Given the description of an element on the screen output the (x, y) to click on. 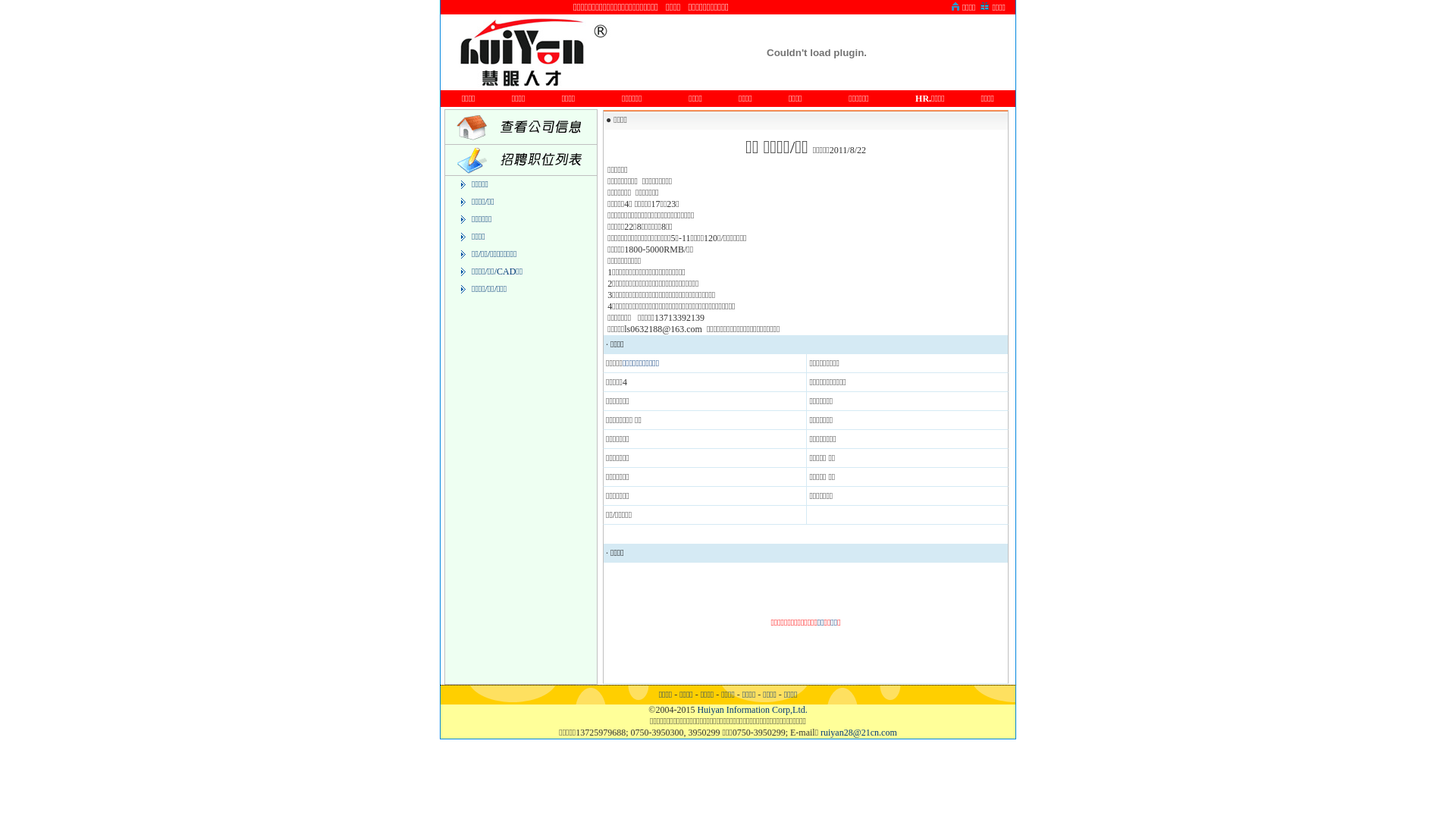
Huiyan Information Corp,Ltd. Element type: text (751, 709)
ruiyan28@21cn.com Element type: text (858, 732)
